Given the description of an element on the screen output the (x, y) to click on. 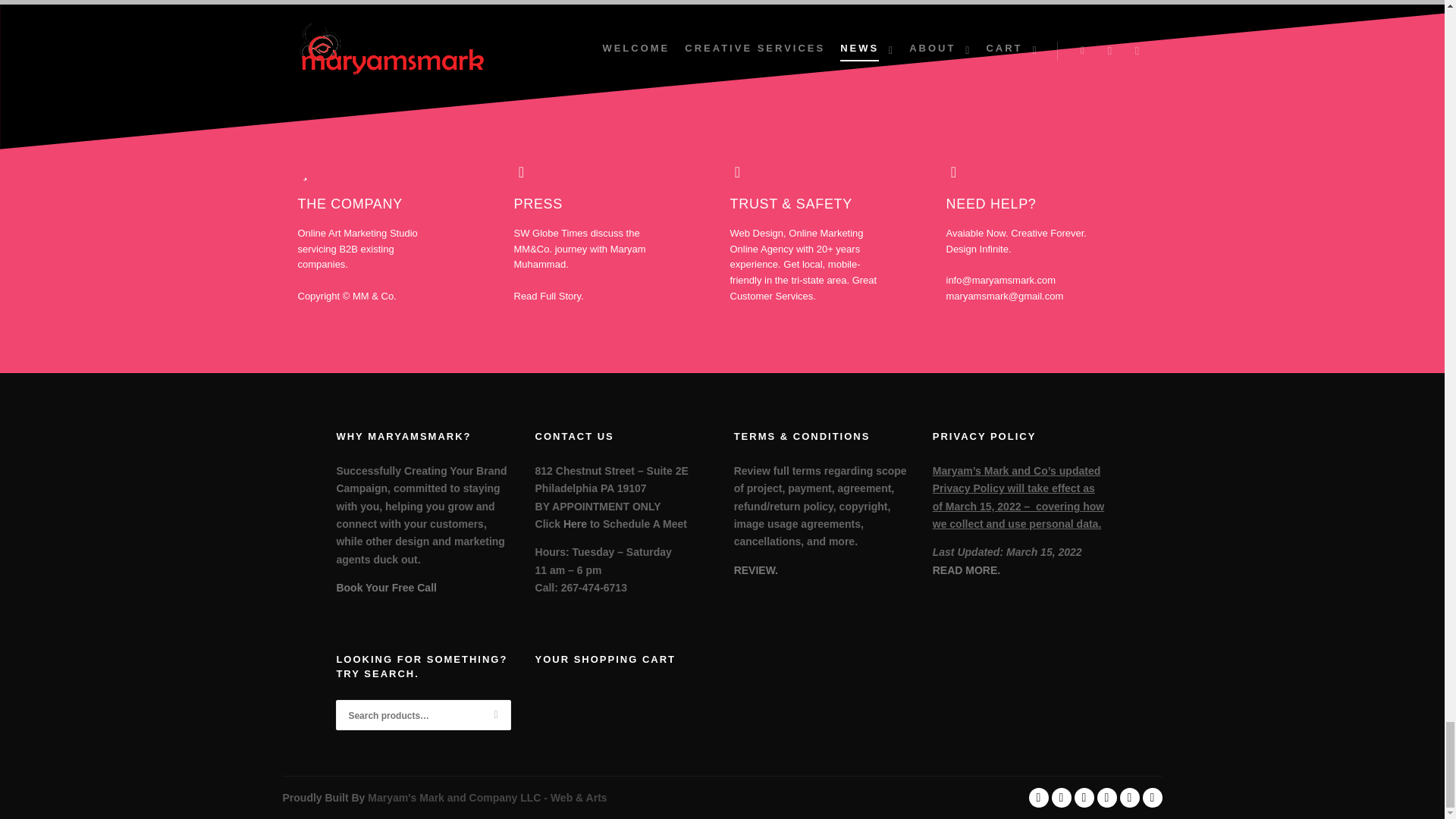
Behance (1060, 797)
500px (1037, 797)
Instagram (1106, 797)
Dribbble (1128, 797)
Facebook (1083, 797)
Twitter (1151, 797)
